Given the description of an element on the screen output the (x, y) to click on. 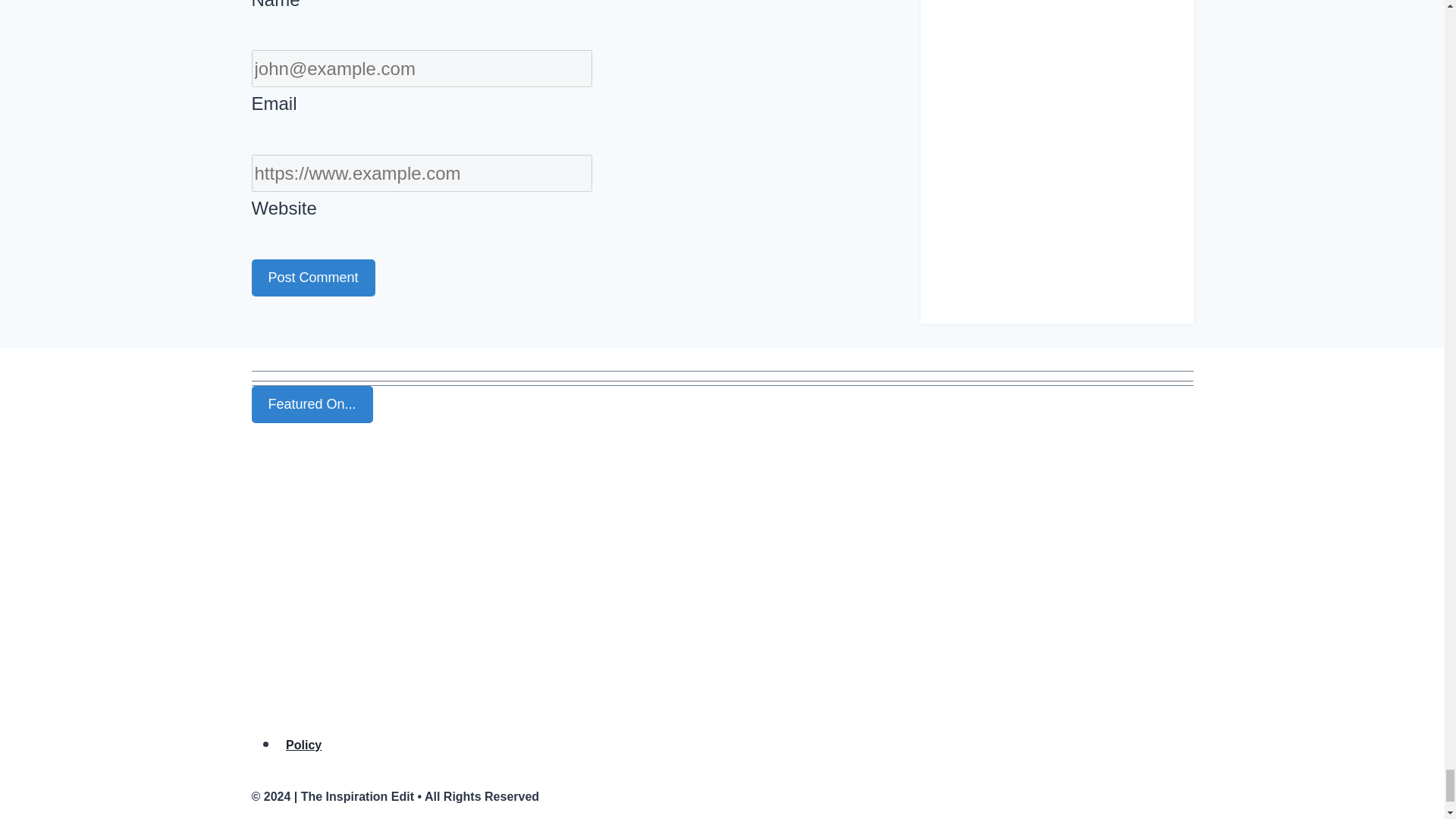
Post Comment (313, 277)
